Given the description of an element on the screen output the (x, y) to click on. 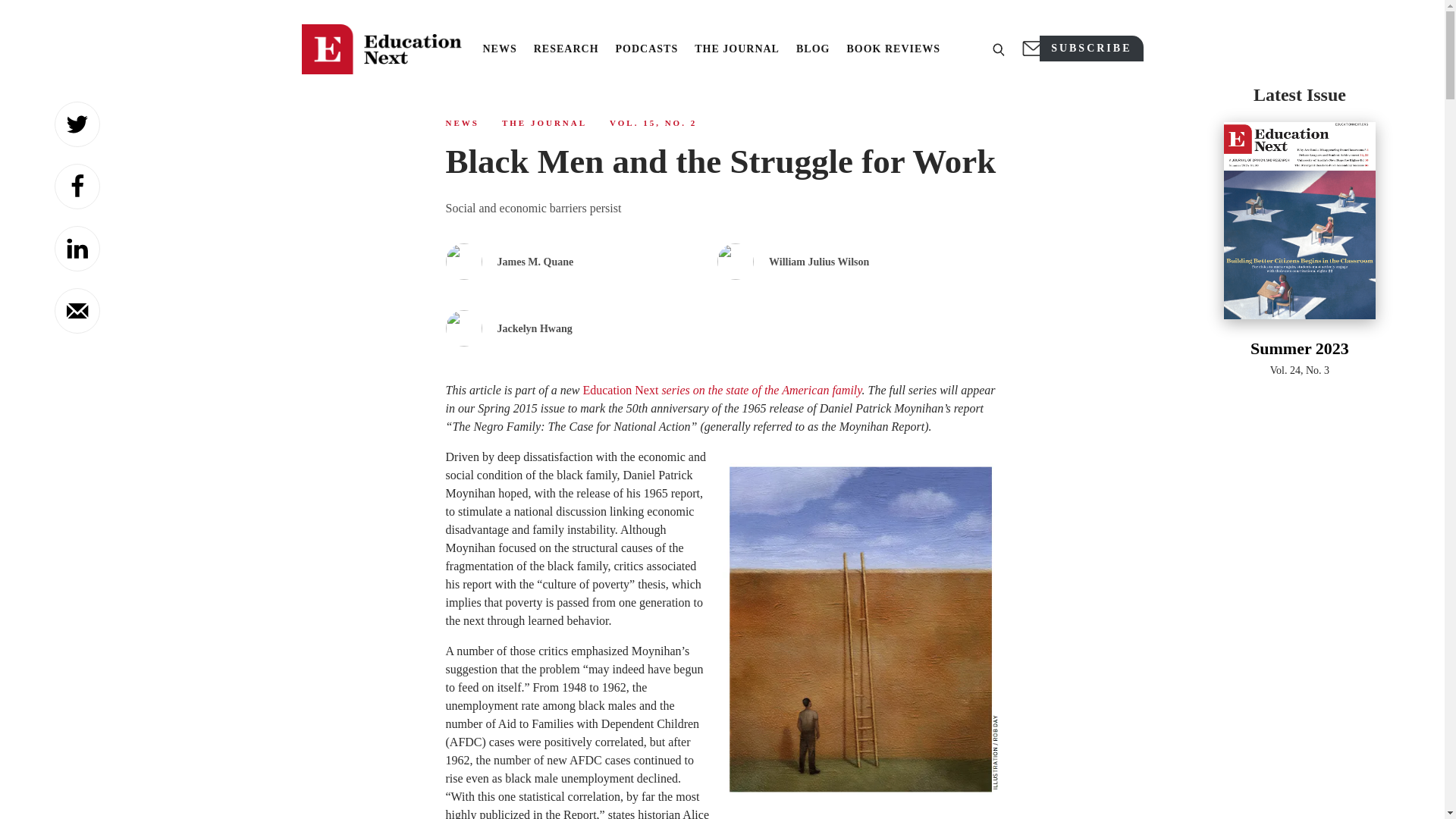
THE JOURNAL (736, 49)
NEWS (498, 49)
VOL. 15, NO. 2 (653, 122)
THE JOURNAL (1299, 232)
Education Next series on the state of the American family (544, 122)
Share on Facebook (721, 390)
RESEARCH (77, 186)
NEWS (566, 49)
BOOK REVIEWS (462, 122)
SUBSCRIBE (892, 49)
Share on LinkedIn (1090, 48)
Share on Twitter (77, 248)
Send over email (77, 124)
